Given the description of an element on the screen output the (x, y) to click on. 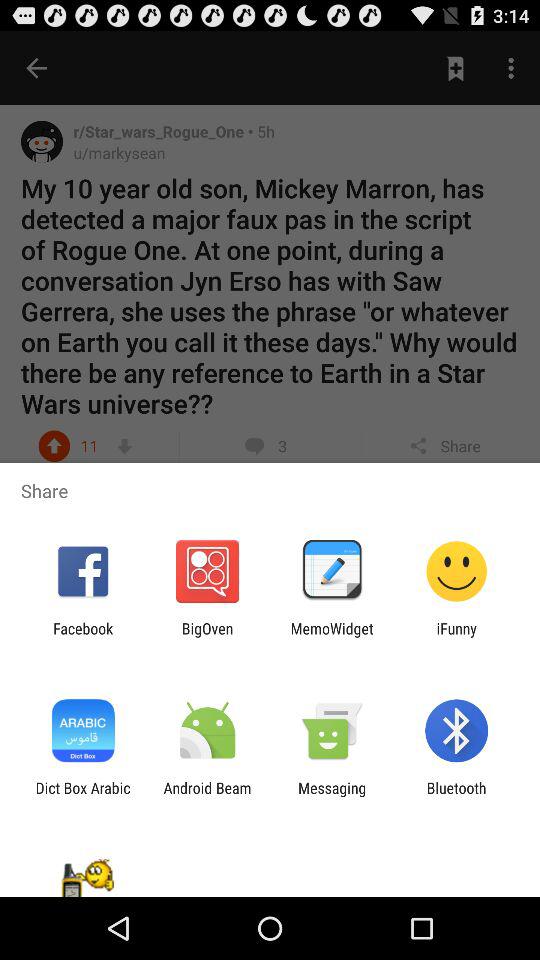
swipe to the messaging icon (332, 796)
